Given the description of an element on the screen output the (x, y) to click on. 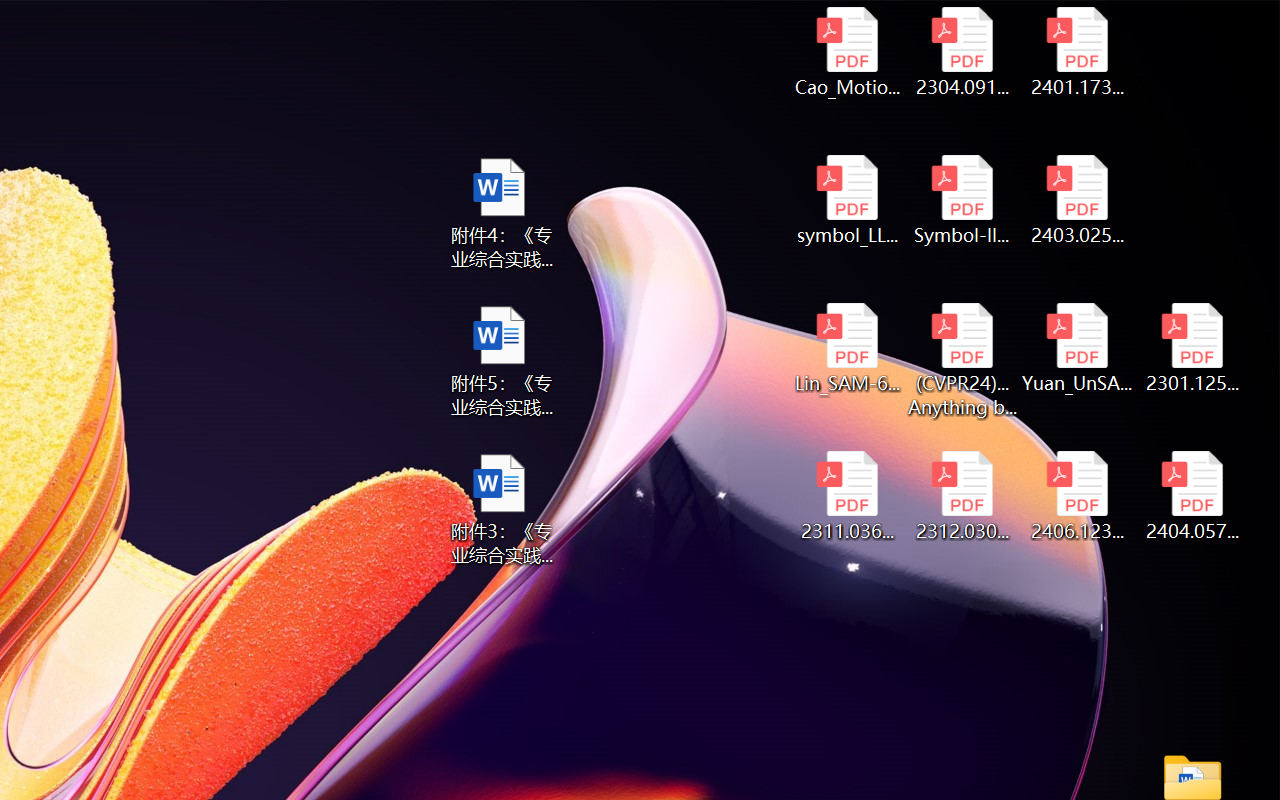
2312.03032v2.pdf (962, 496)
